Given the description of an element on the screen output the (x, y) to click on. 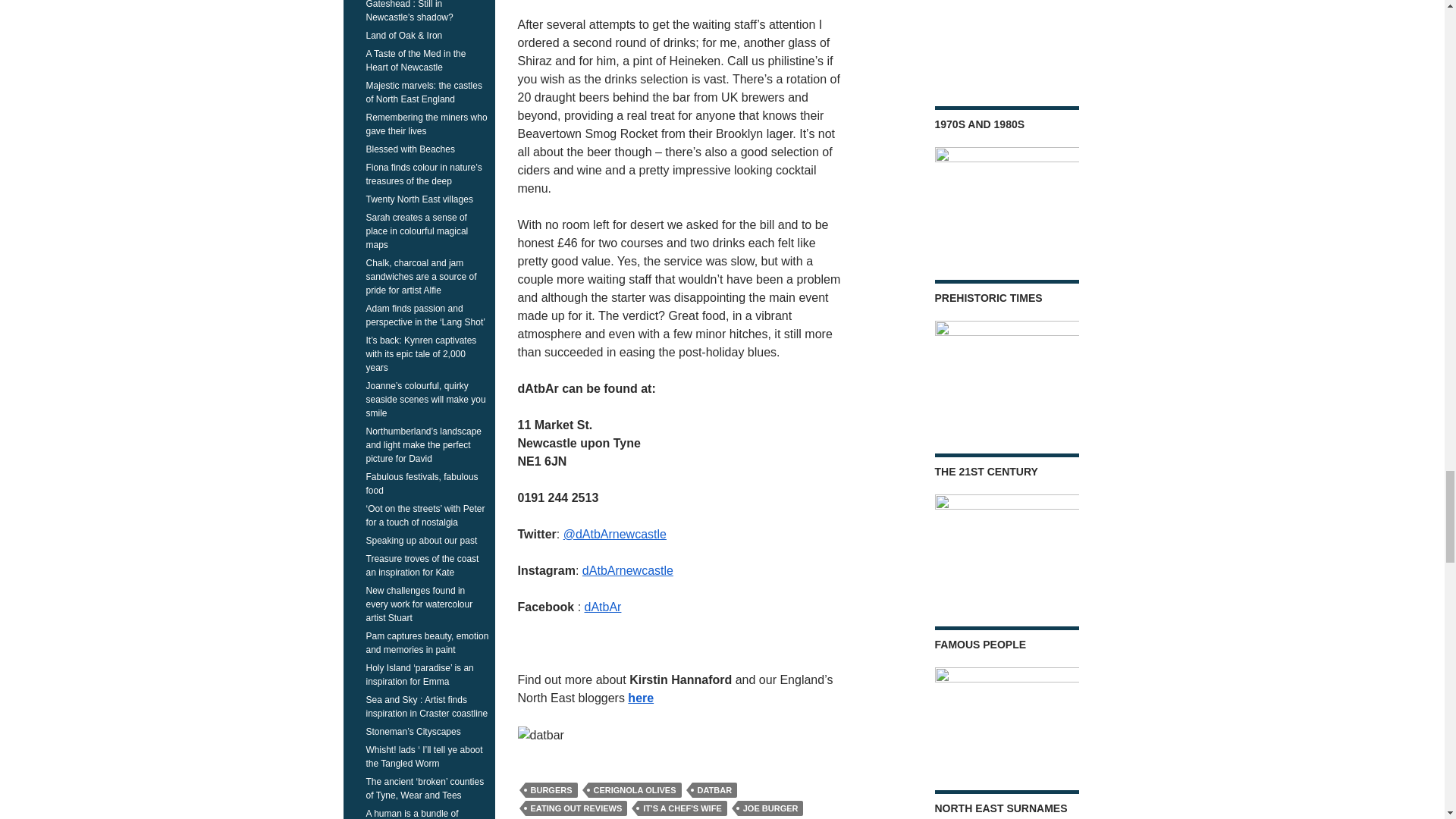
DatBar Instagram (627, 570)
DatBar Twitter (614, 533)
Prehistoric Times (1006, 368)
